Given the description of an element on the screen output the (x, y) to click on. 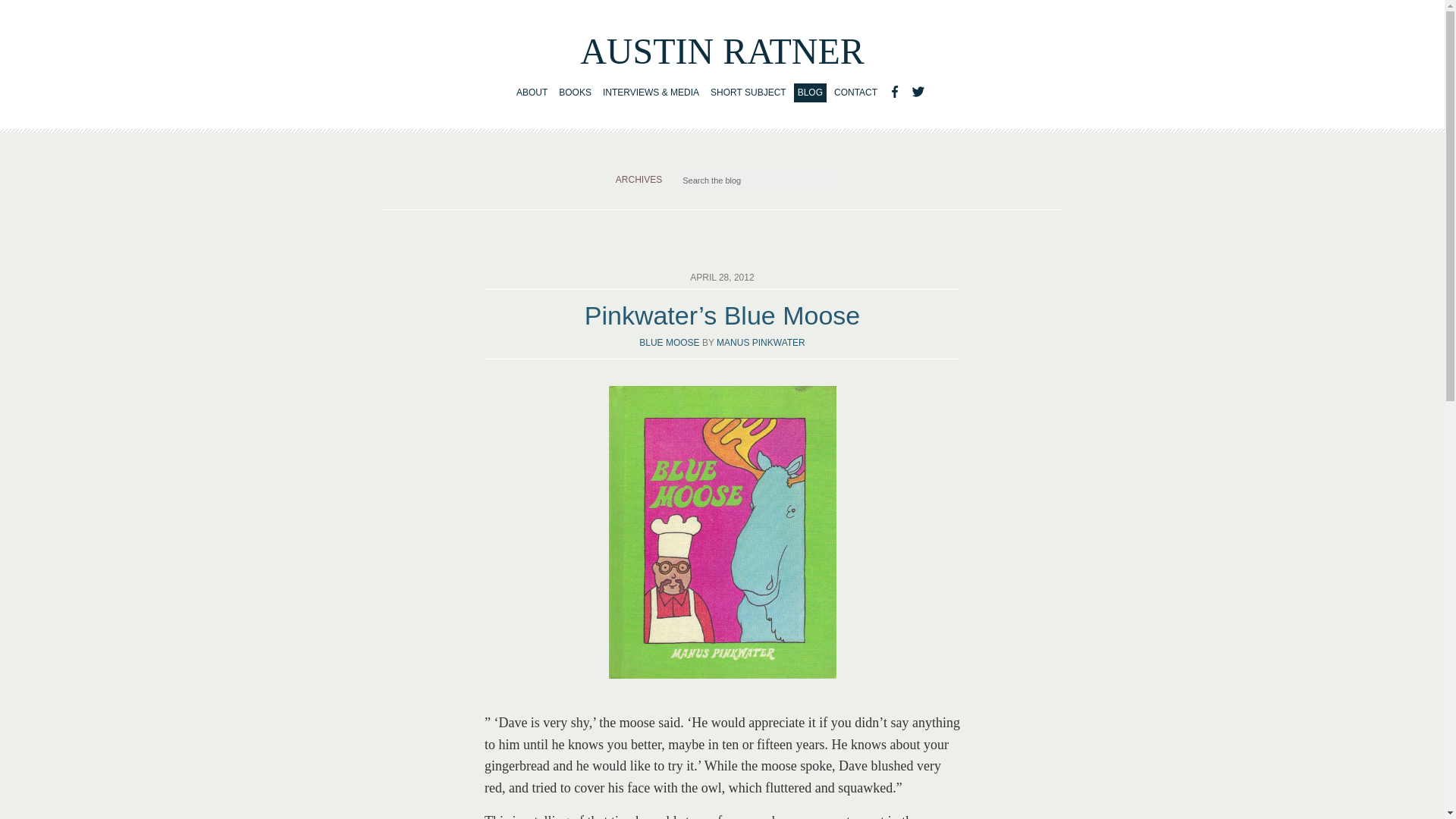
BLOG (810, 92)
Austin Ratner (721, 51)
Search the blog (758, 180)
BOOKS (574, 92)
MANUS PINKWATER (760, 342)
AUSTIN RATNER (721, 51)
BLUE MOOSE (668, 342)
ARCHIVES (638, 179)
ABOUT (531, 92)
CONTACT (854, 92)
